Given the description of an element on the screen output the (x, y) to click on. 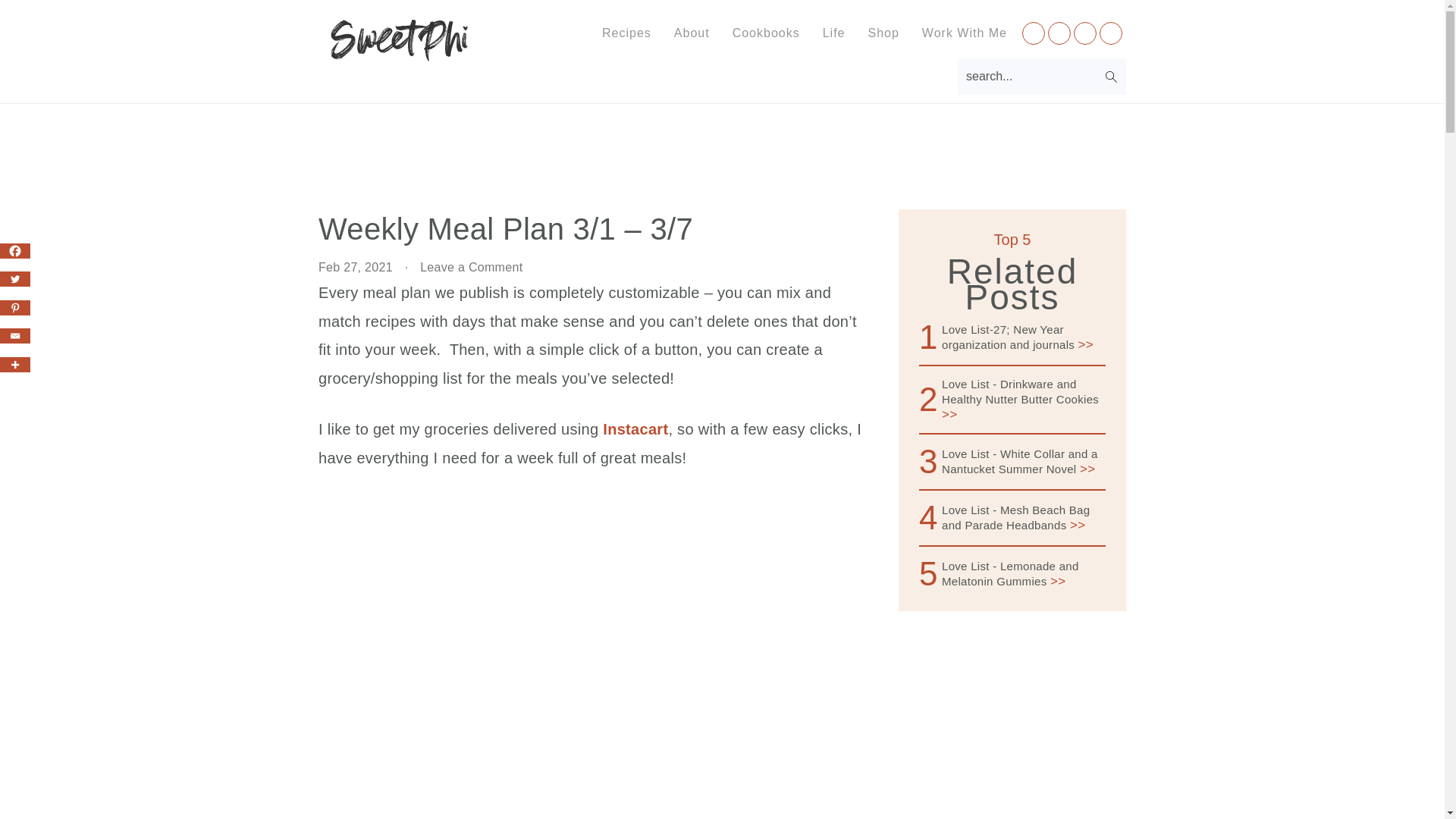
Instacart (635, 428)
About (691, 33)
Twitter (15, 278)
Email (15, 335)
Life (833, 33)
Pinterest (15, 307)
Recipes (626, 33)
Leave a Comment (471, 267)
